Given the description of an element on the screen output the (x, y) to click on. 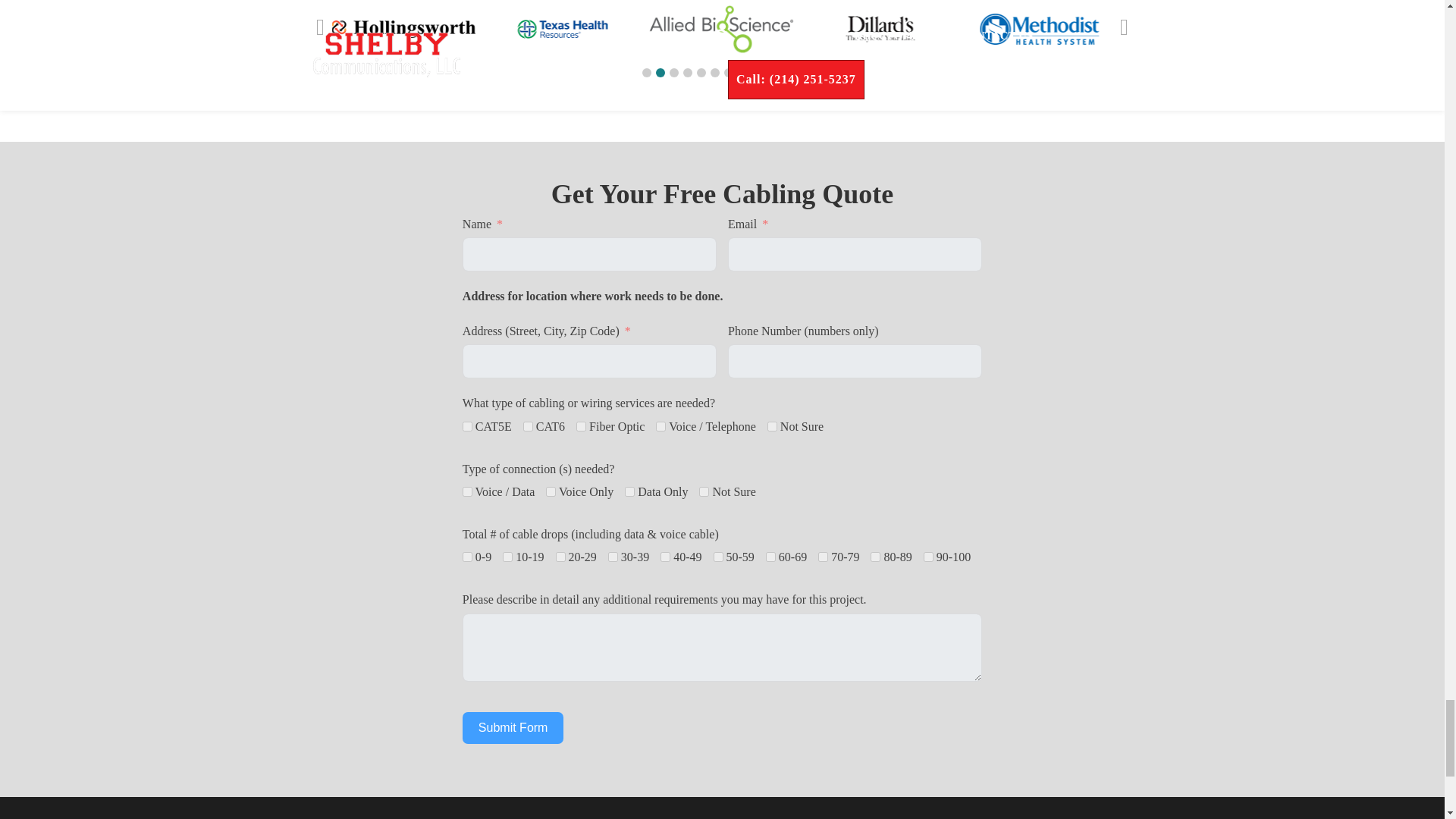
50-59 (717, 556)
20-29 (561, 556)
Not Sure (772, 426)
Fiber Optic (581, 426)
60-69 (770, 556)
0-9 (467, 556)
10-19 (507, 556)
Not Sure (703, 491)
Voice Only (551, 491)
CAT6 (527, 426)
